Given the description of an element on the screen output the (x, y) to click on. 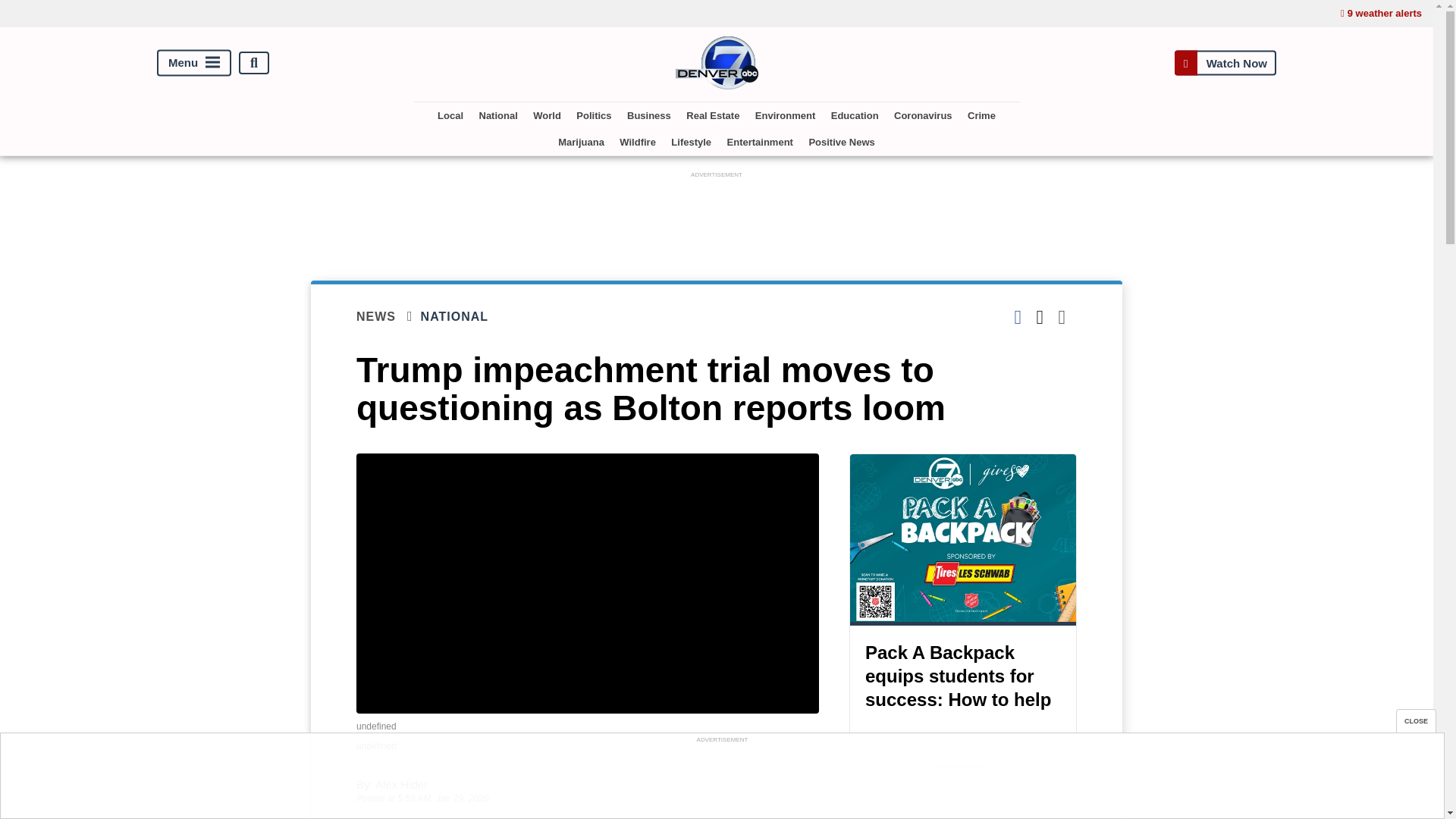
3rd party ad content (962, 796)
3rd party ad content (716, 215)
3rd party ad content (721, 780)
Menu (194, 62)
Watch Now (1224, 62)
